Given the description of an element on the screen output the (x, y) to click on. 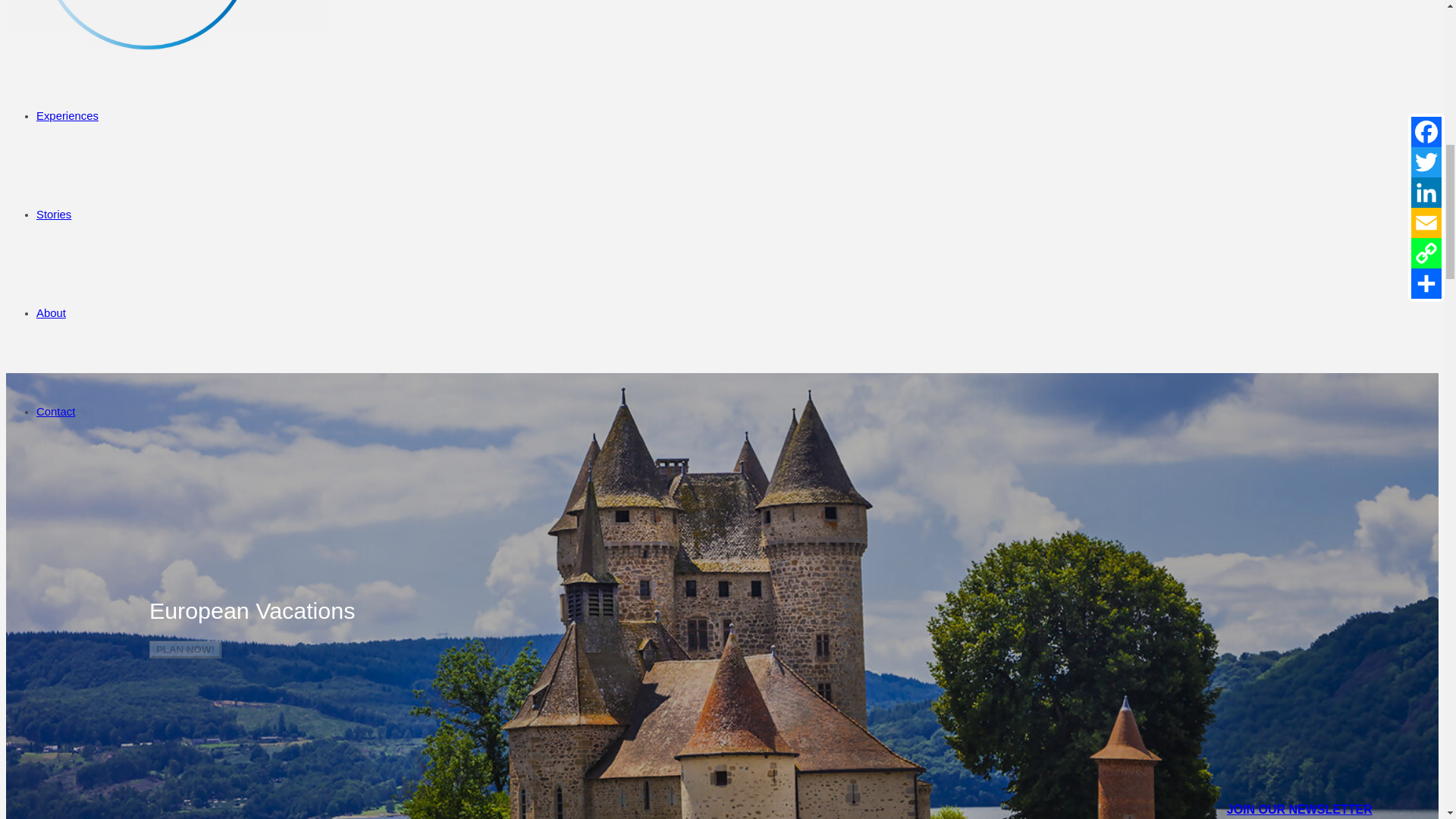
About (50, 313)
Stories (53, 214)
Plan Now! (185, 649)
Plan Now! (185, 649)
Experiences (67, 115)
Contact (55, 411)
